Given the description of an element on the screen output the (x, y) to click on. 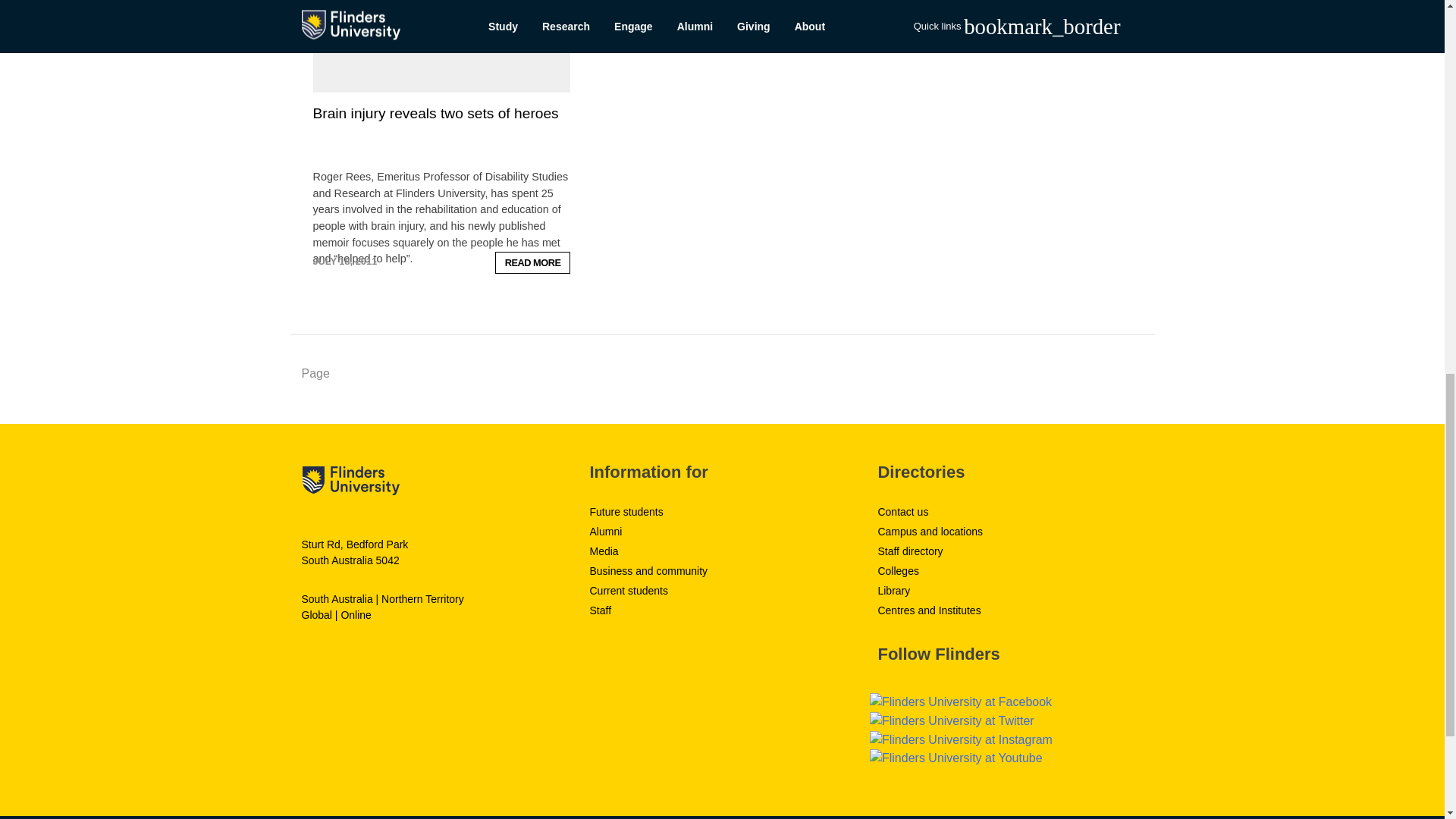
Brain injury reveals two sets of heroes (435, 113)
READ MORE (532, 262)
Current students (628, 590)
Business and community (648, 571)
Future students (625, 511)
Colleges (897, 571)
Media (603, 551)
Library (893, 590)
Campus and locations (929, 531)
Staff (600, 610)
Contact us (902, 511)
Alumni (605, 531)
Staff directory (909, 551)
